Given the description of an element on the screen output the (x, y) to click on. 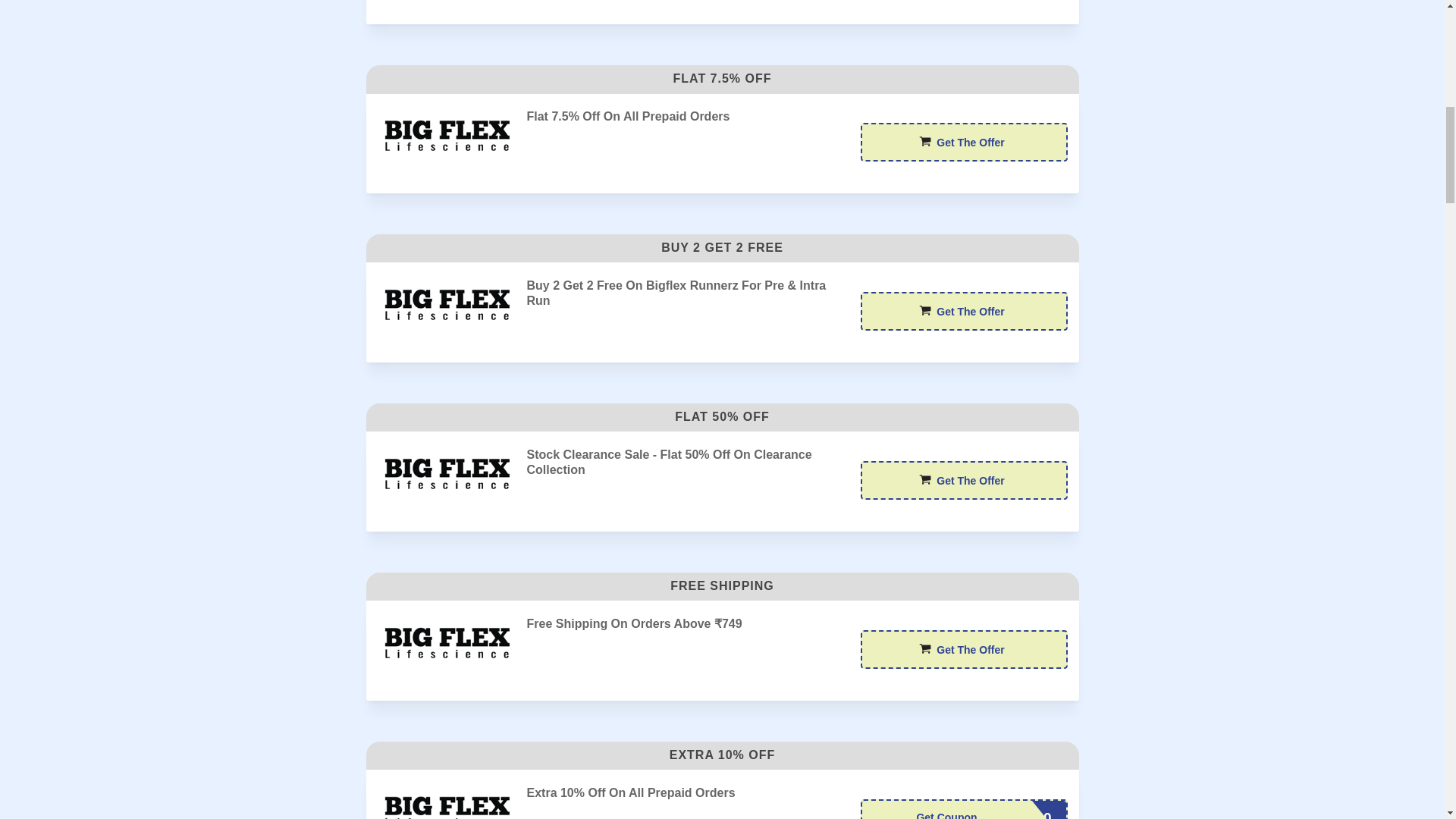
Get The Offer (963, 480)
Get The Offer (963, 310)
Get The Offer (963, 141)
Get The Offer (963, 310)
Get The Offer (963, 141)
